Given the description of an element on the screen output the (x, y) to click on. 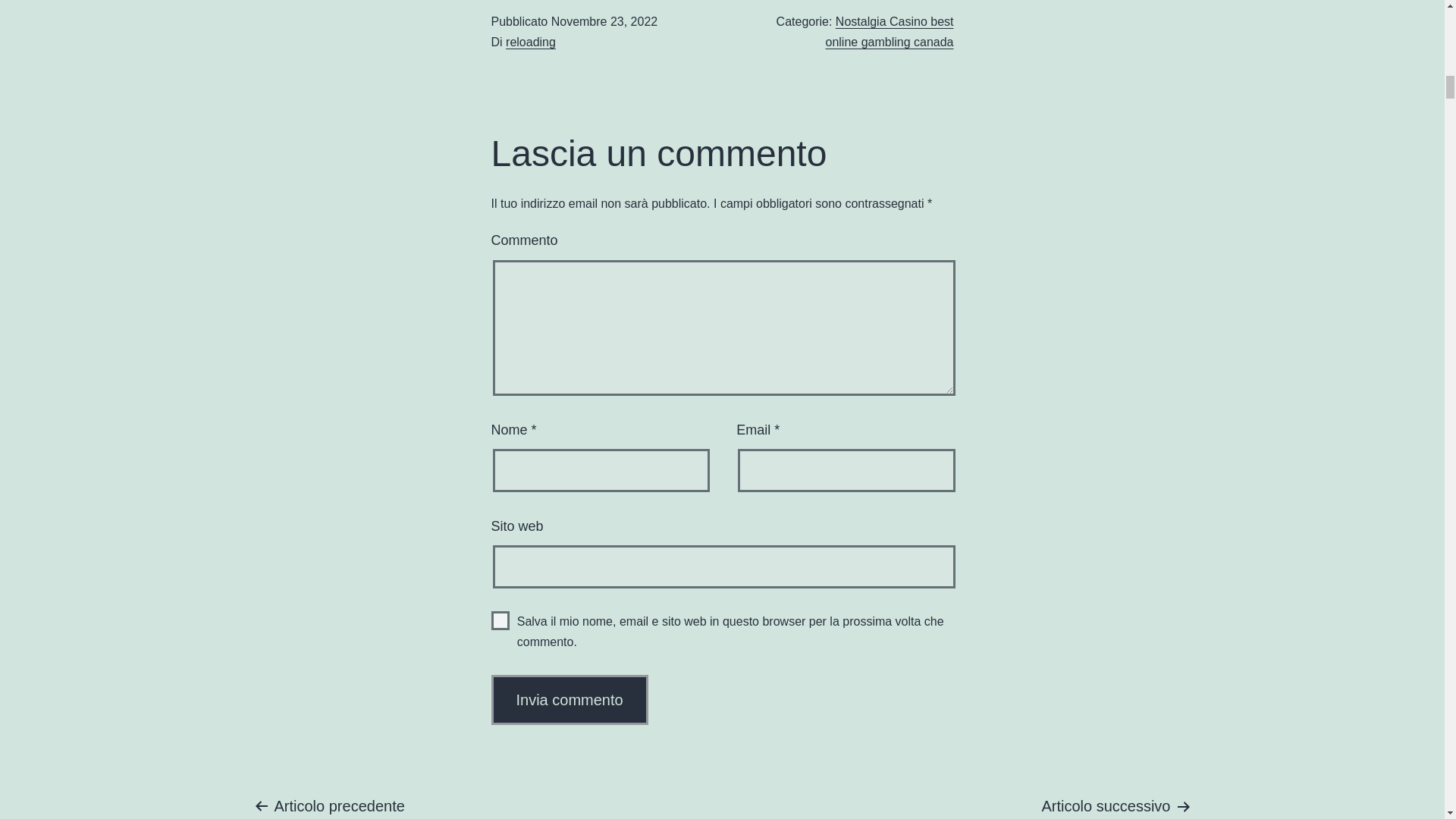
yes (500, 619)
reloading (530, 42)
Nostalgia Casino best online gambling canada (889, 31)
Invia commento (569, 699)
Invia commento (569, 699)
